Given the description of an element on the screen output the (x, y) to click on. 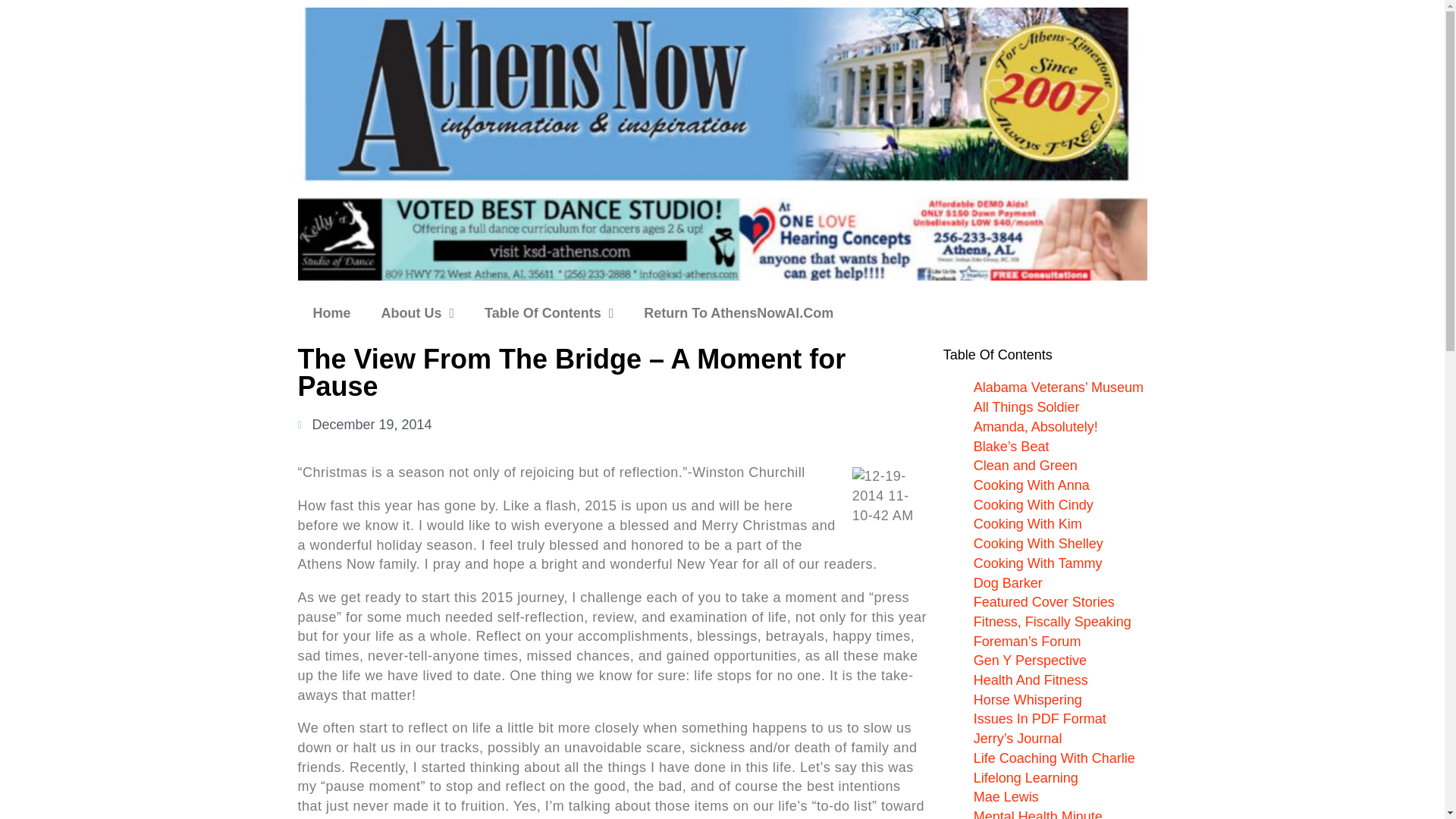
About Us (418, 312)
Home (331, 312)
Return To AthensNowAl.Com (738, 312)
Table Of Contents (548, 312)
